Given the description of an element on the screen output the (x, y) to click on. 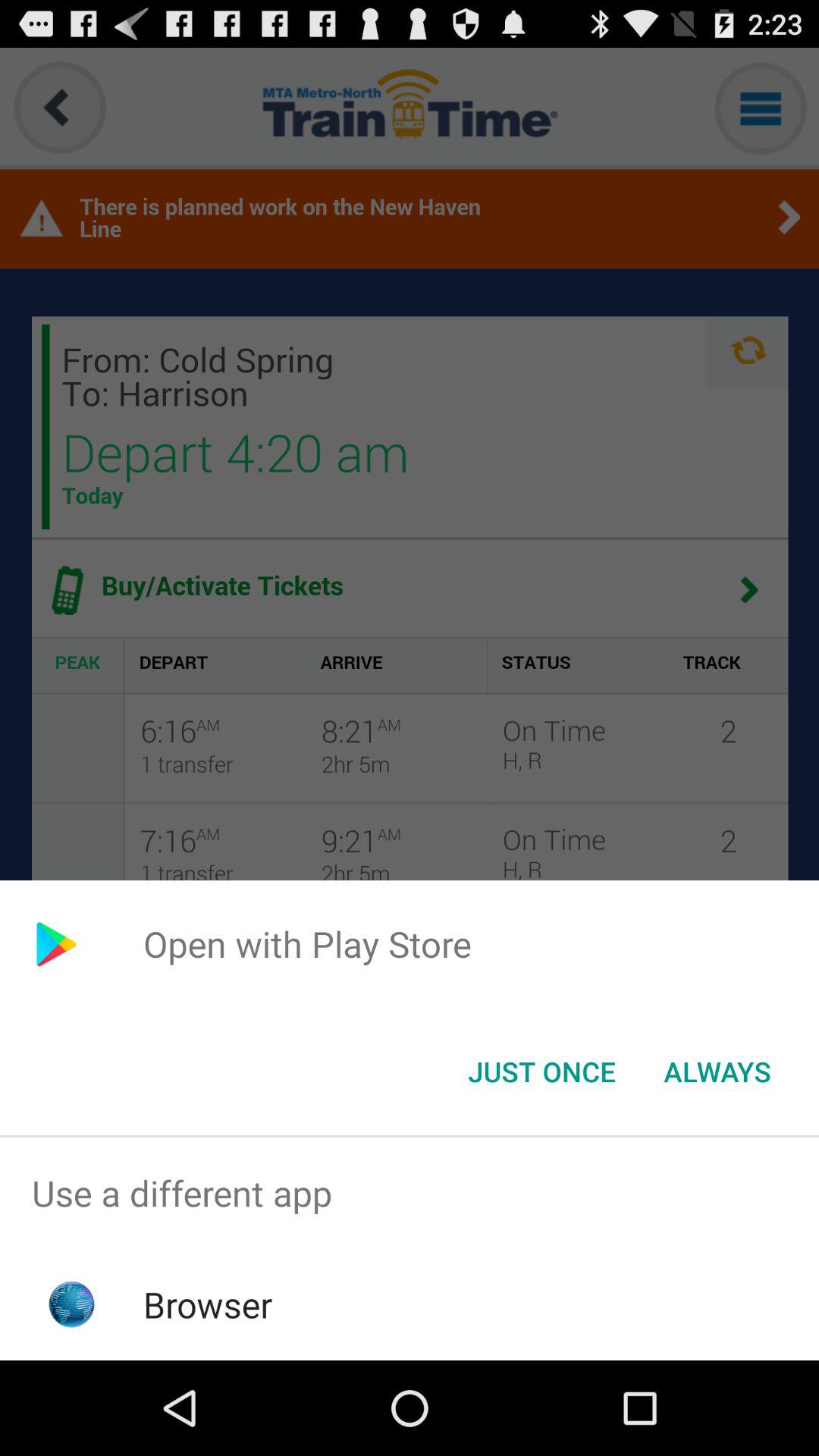
turn on icon below open with play (717, 1071)
